Given the description of an element on the screen output the (x, y) to click on. 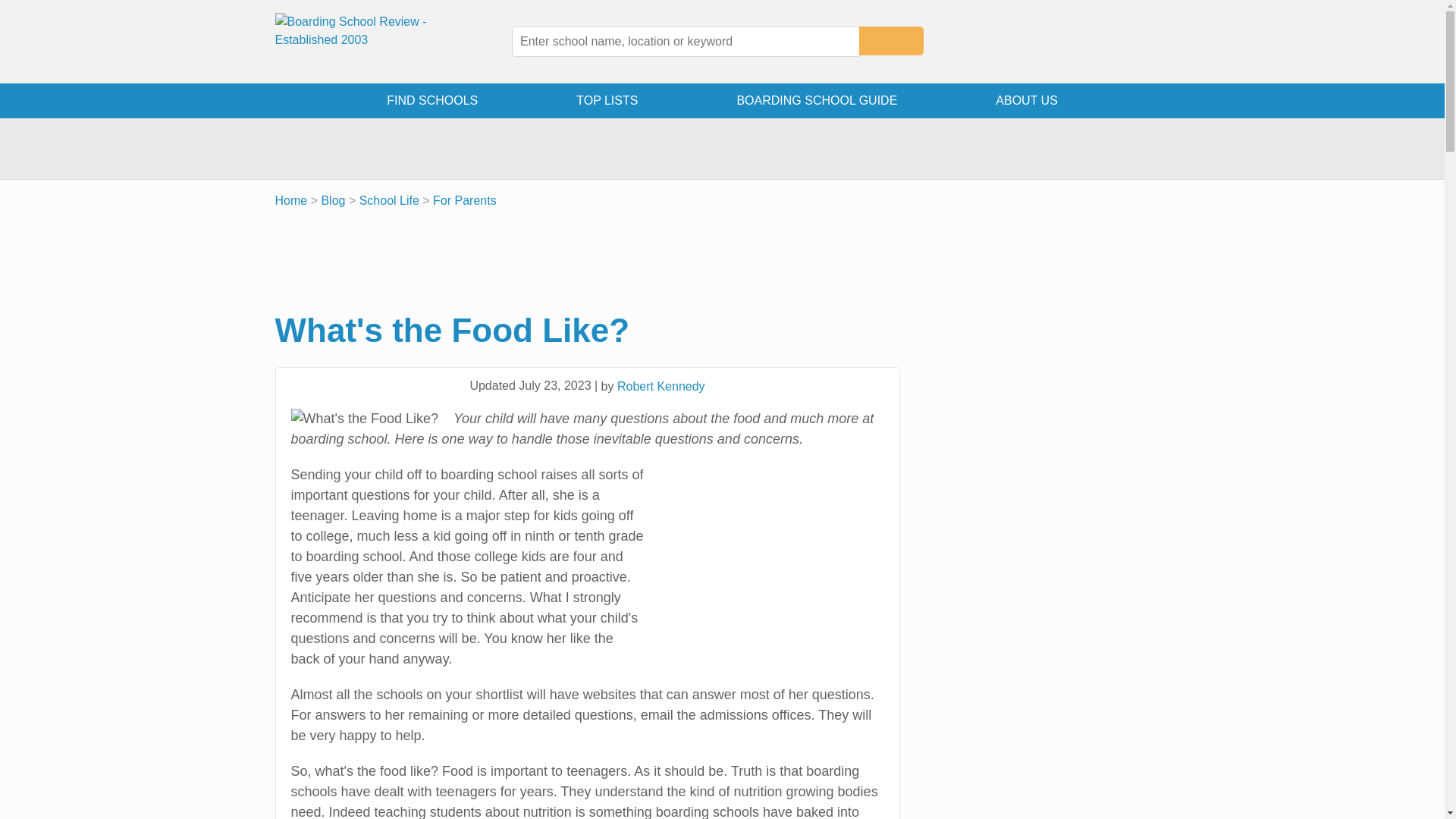
TOP LISTS (607, 100)
What's the Food Like? (365, 418)
Home (291, 200)
FIND SCHOOLS (432, 100)
Boarding School Review - Established 2003 (350, 41)
Robert Kennedy (660, 386)
For Parents (464, 200)
BOARDING SCHOOL GUIDE (816, 100)
ABOUT US (1026, 100)
School Life (389, 200)
